Given the description of an element on the screen output the (x, y) to click on. 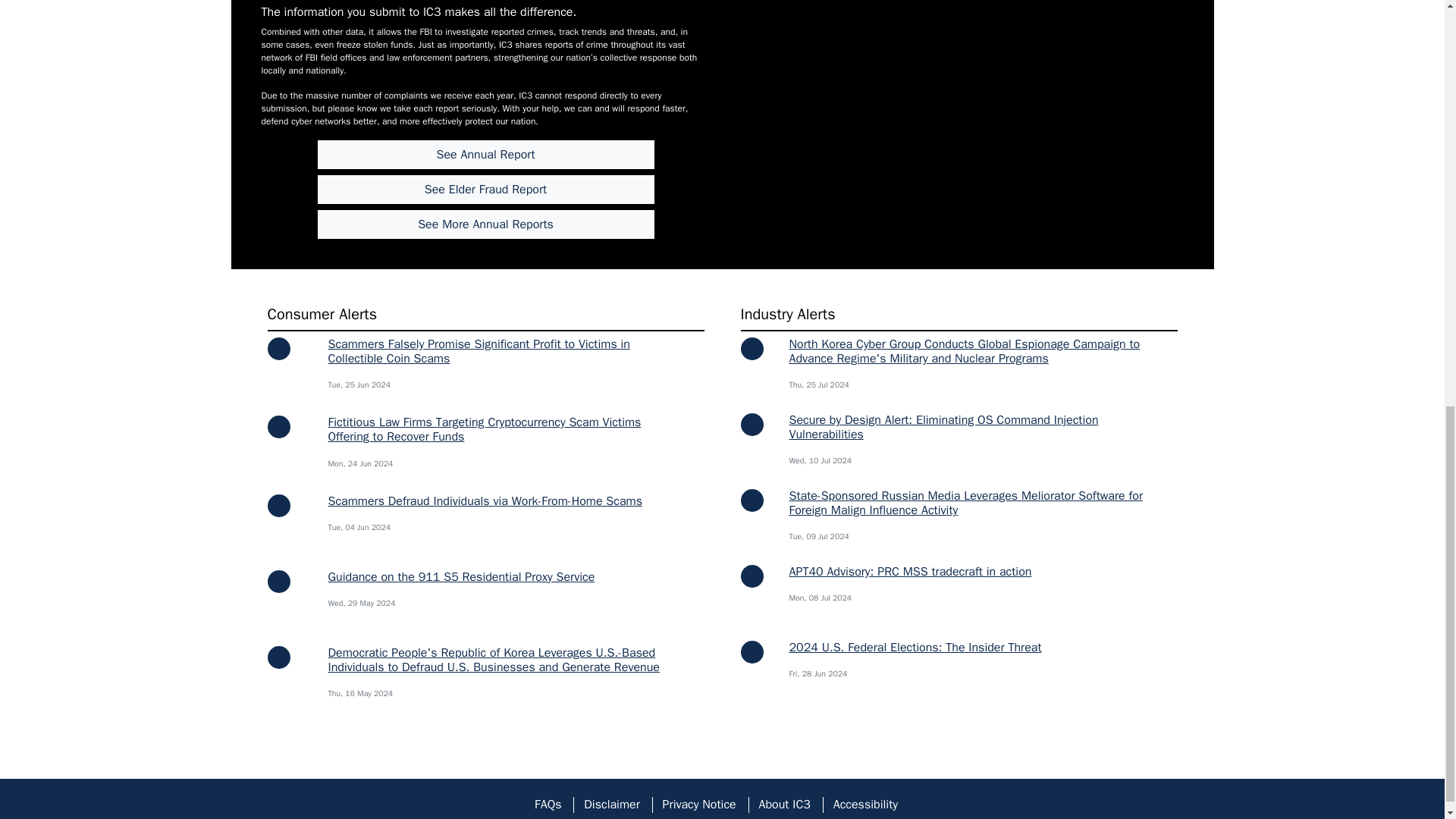
See More Annual Reports (485, 224)
bullet (277, 426)
Scammers Defraud Individuals via Work-From-Home Scams (484, 500)
Accessibility (865, 804)
APT40 Advisory: PRC MSS tradecraft in action (909, 571)
About IC3 (783, 804)
Guidance on the 911 S5 Residential Proxy Service (460, 576)
